Given the description of an element on the screen output the (x, y) to click on. 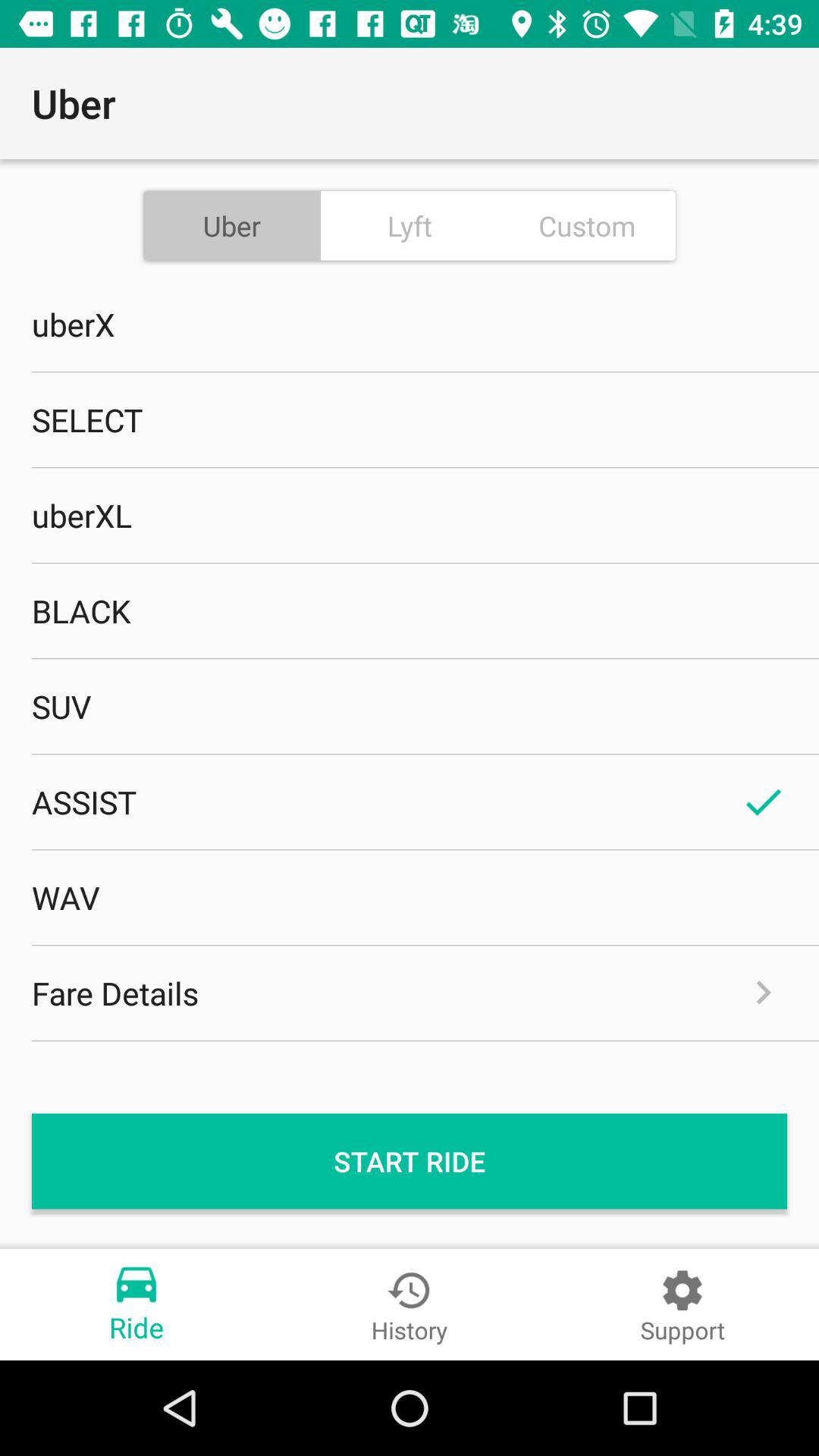
scroll until lyft (409, 225)
